Given the description of an element on the screen output the (x, y) to click on. 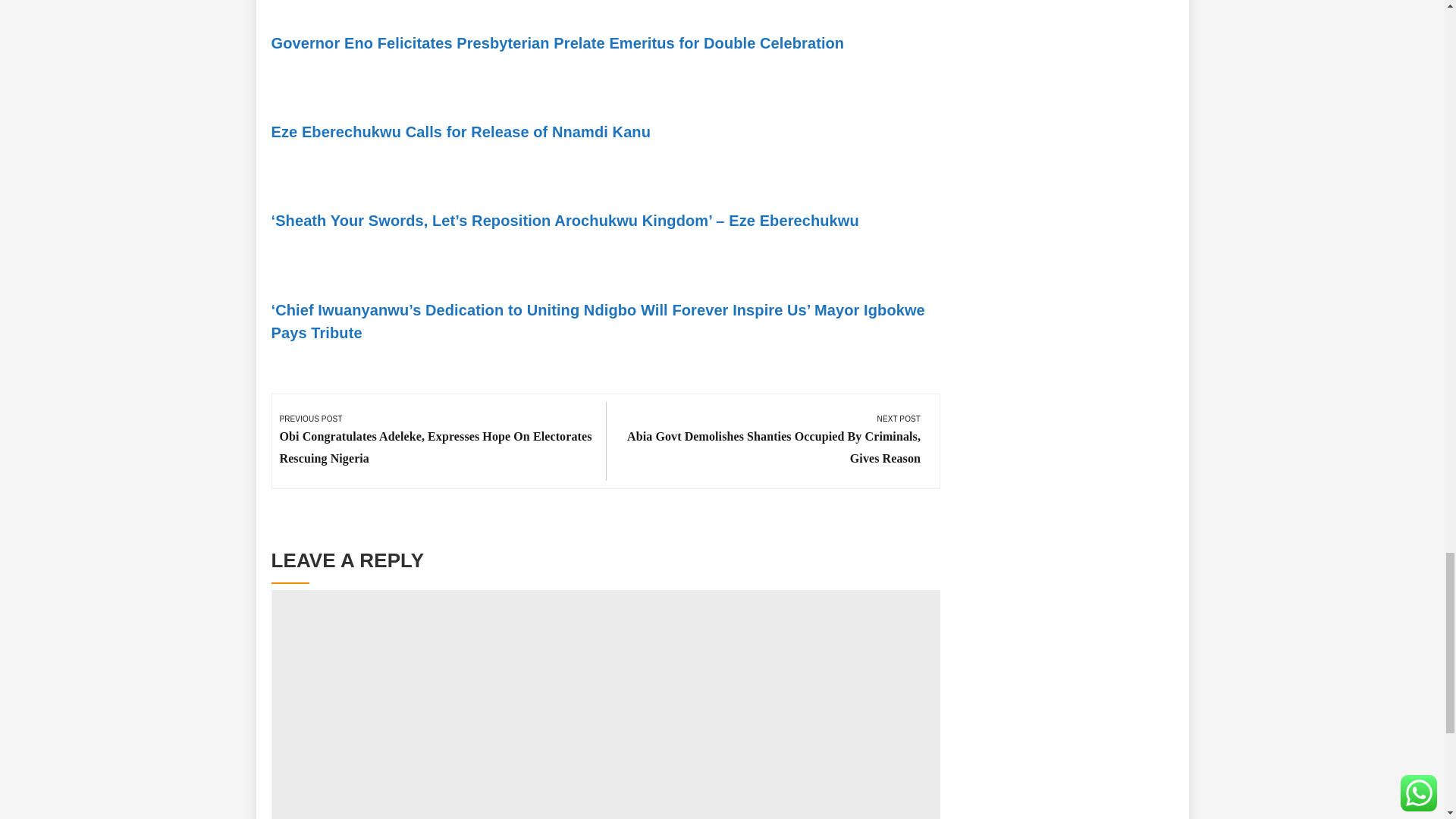
Comment Form (606, 715)
